Given the description of an element on the screen output the (x, y) to click on. 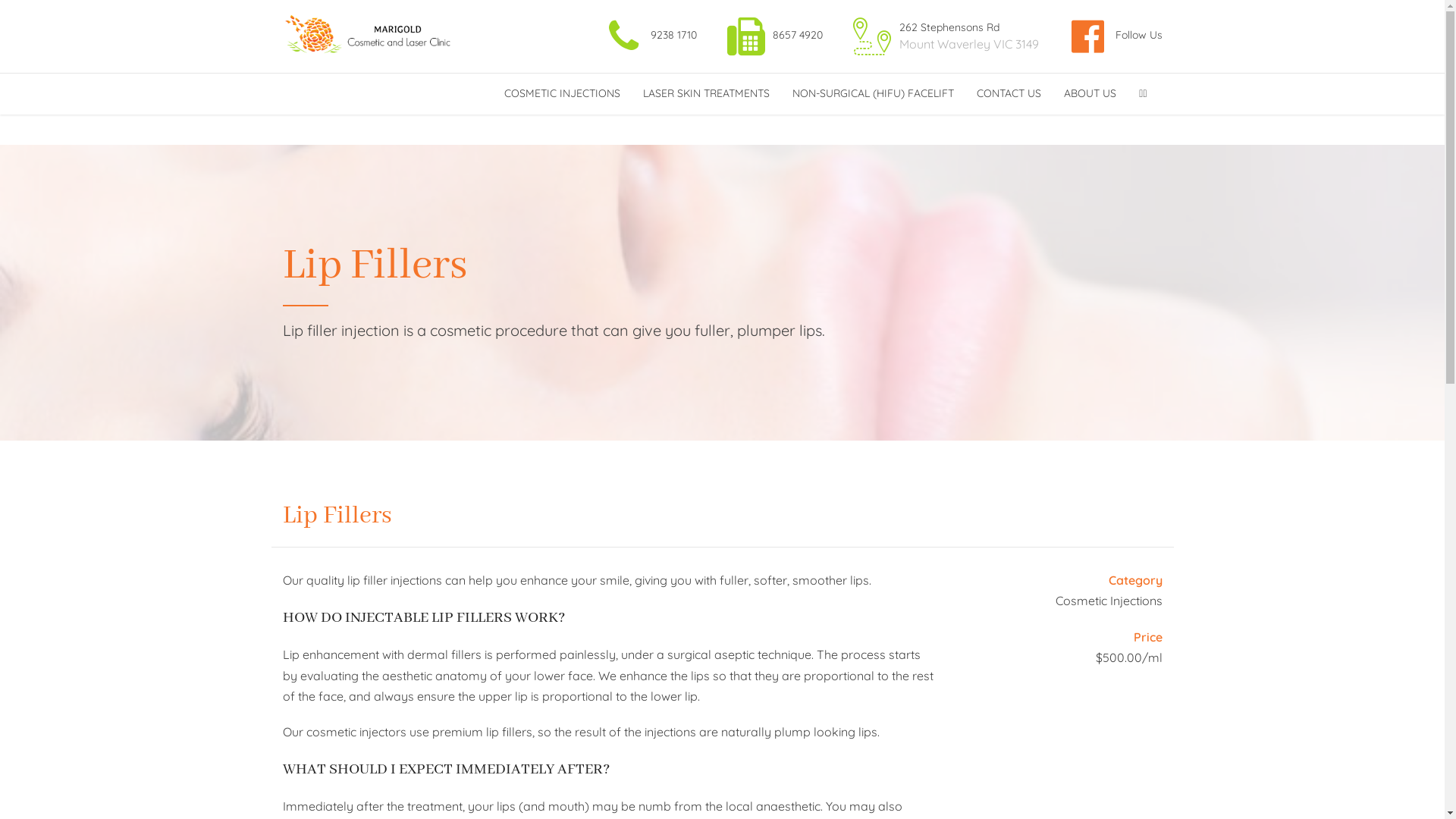
CONTACT US Element type: text (1008, 93)
9238 1710 Element type: text (648, 36)
LASER SKIN TREATMENTS Element type: text (706, 93)
Follow Us Element type: text (1113, 36)
262 Stephensons Rd
Mount Waverley VIC 3149 Element type: text (943, 36)
ABOUT US Element type: text (1089, 93)
COSMETIC INJECTIONS Element type: text (562, 93)
NON-SURGICAL (HIFU) FACELIFT Element type: text (872, 93)
